Given the description of an element on the screen output the (x, y) to click on. 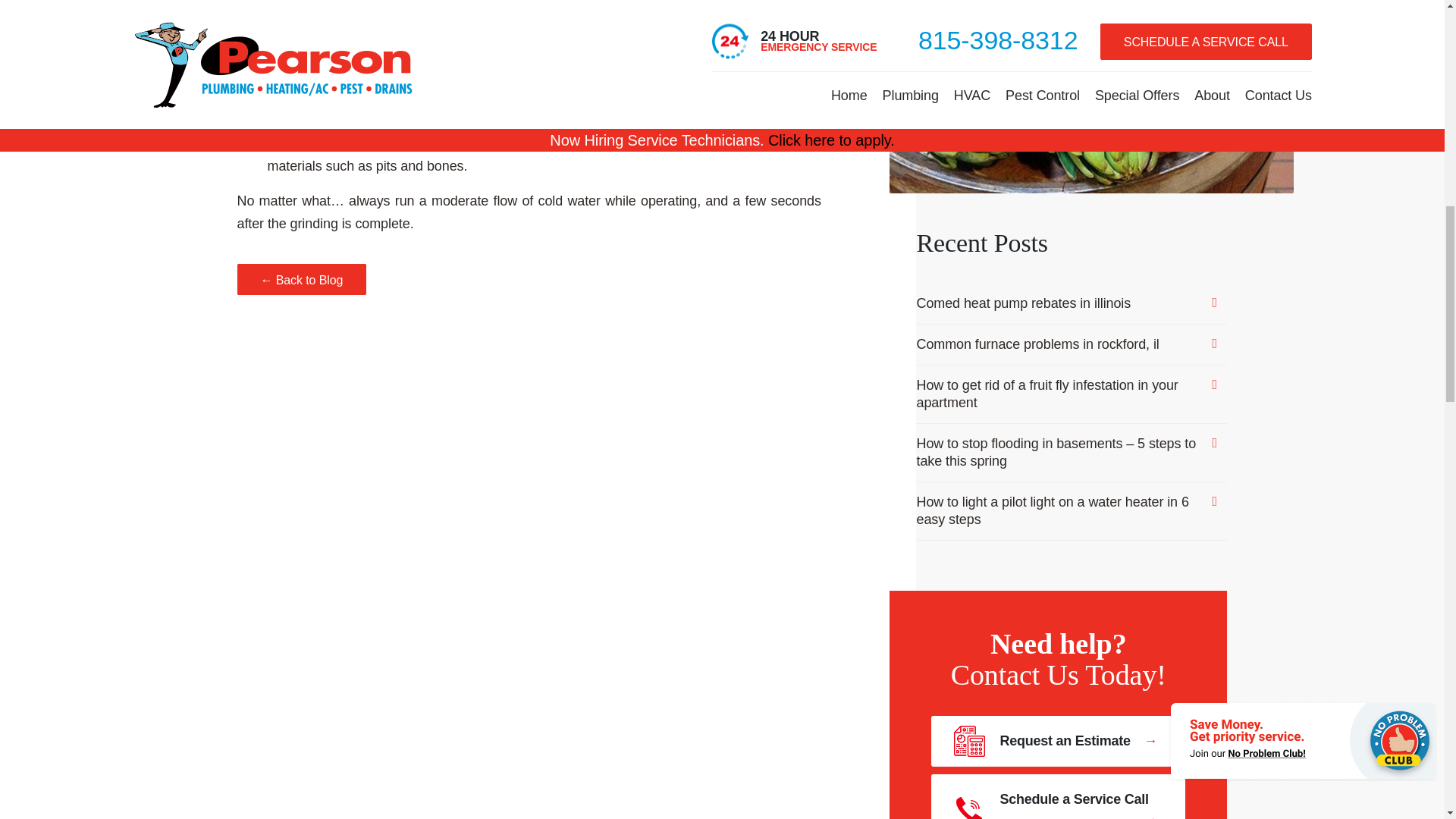
common furnace problems in rockford, il (1071, 344)
comed heat pump rebates in illinois (1071, 303)
